Given the description of an element on the screen output the (x, y) to click on. 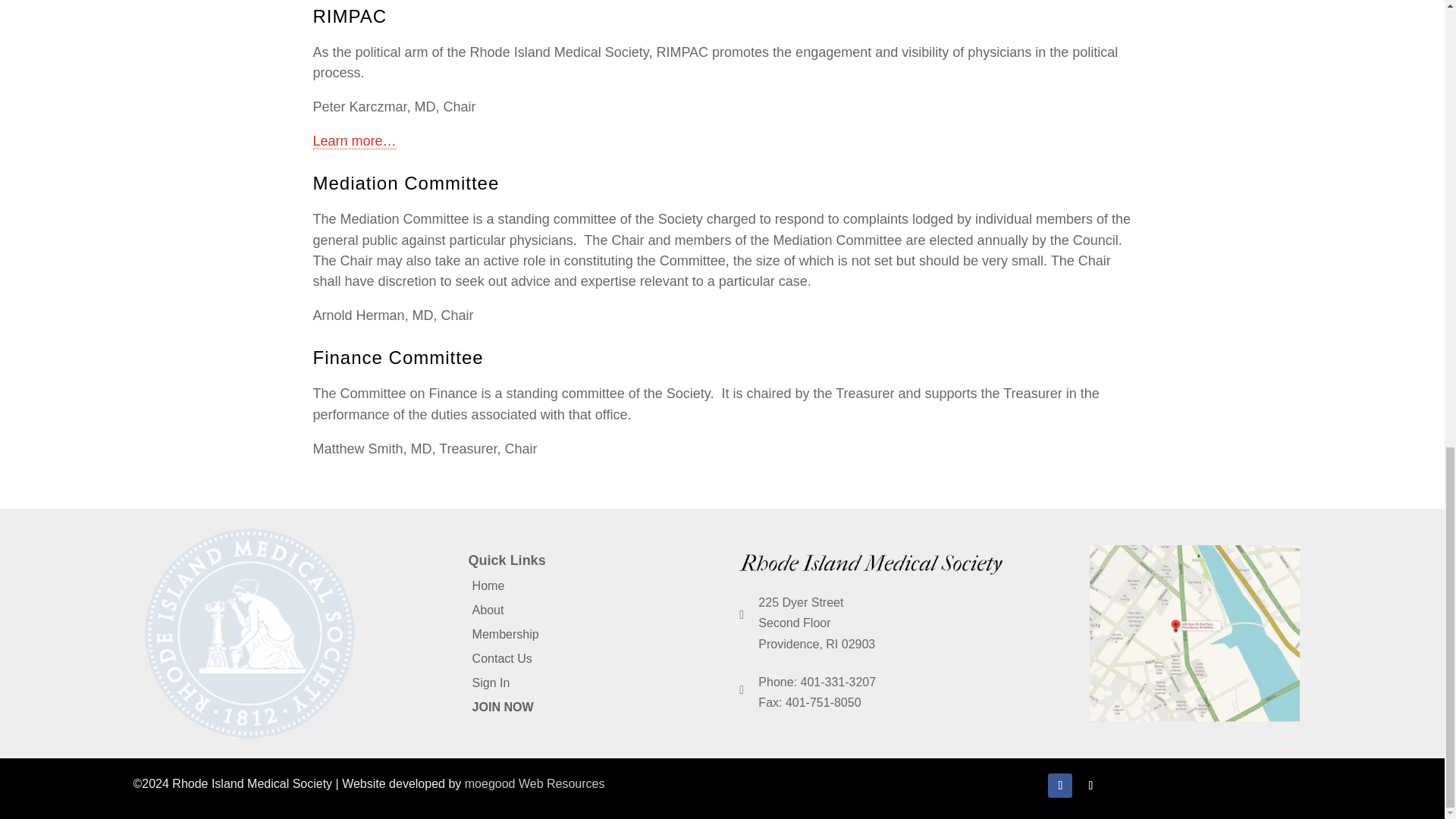
RIMSseal (249, 633)
Follow on Facebook (1059, 785)
Follow on X (1090, 785)
